Given the description of an element on the screen output the (x, y) to click on. 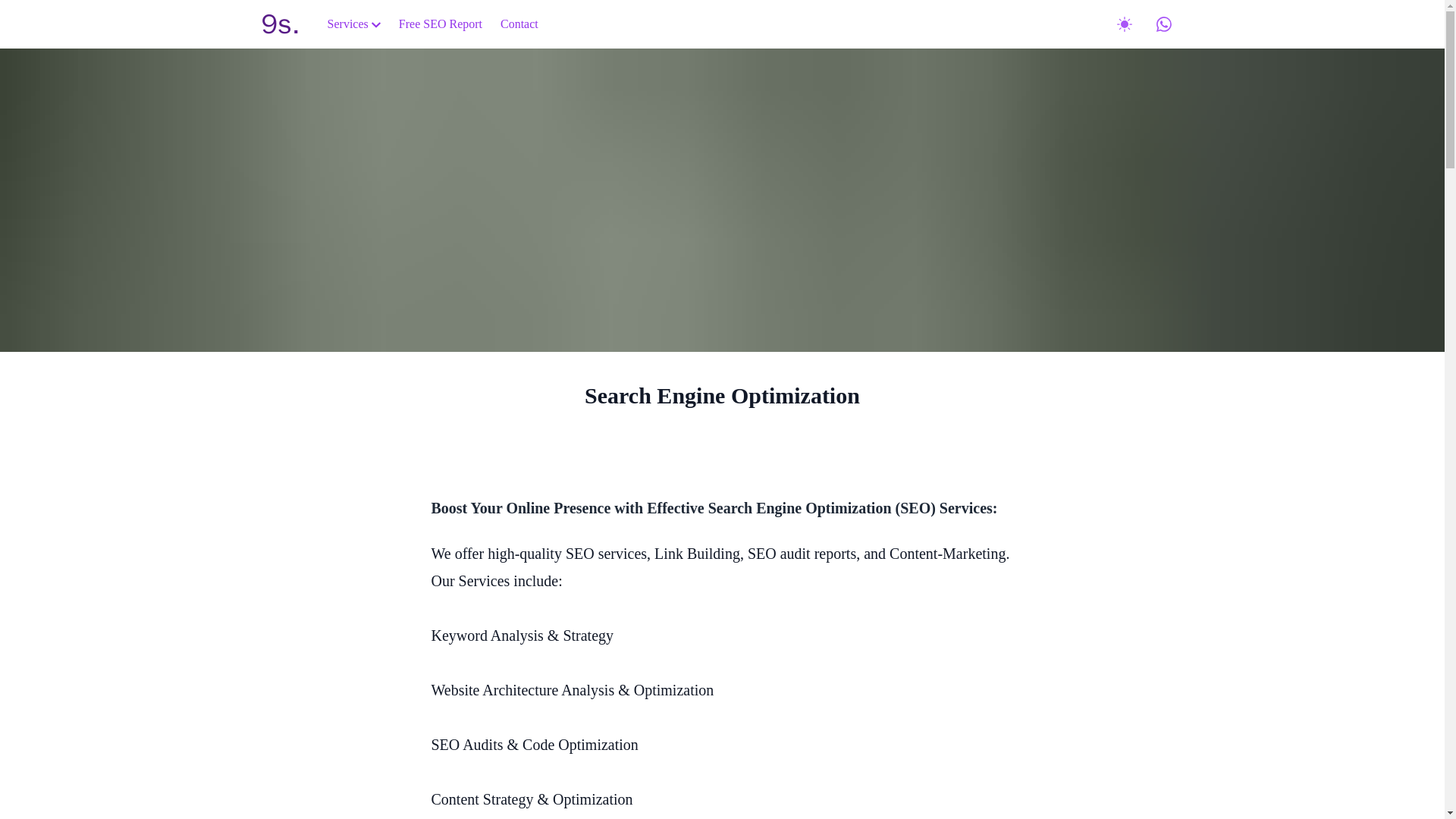
Contact (519, 23)
Whatsapp (1162, 23)
Services (353, 23)
Free SEO Report (439, 23)
9s. (279, 24)
Whatsapp (1162, 23)
